Given the description of an element on the screen output the (x, y) to click on. 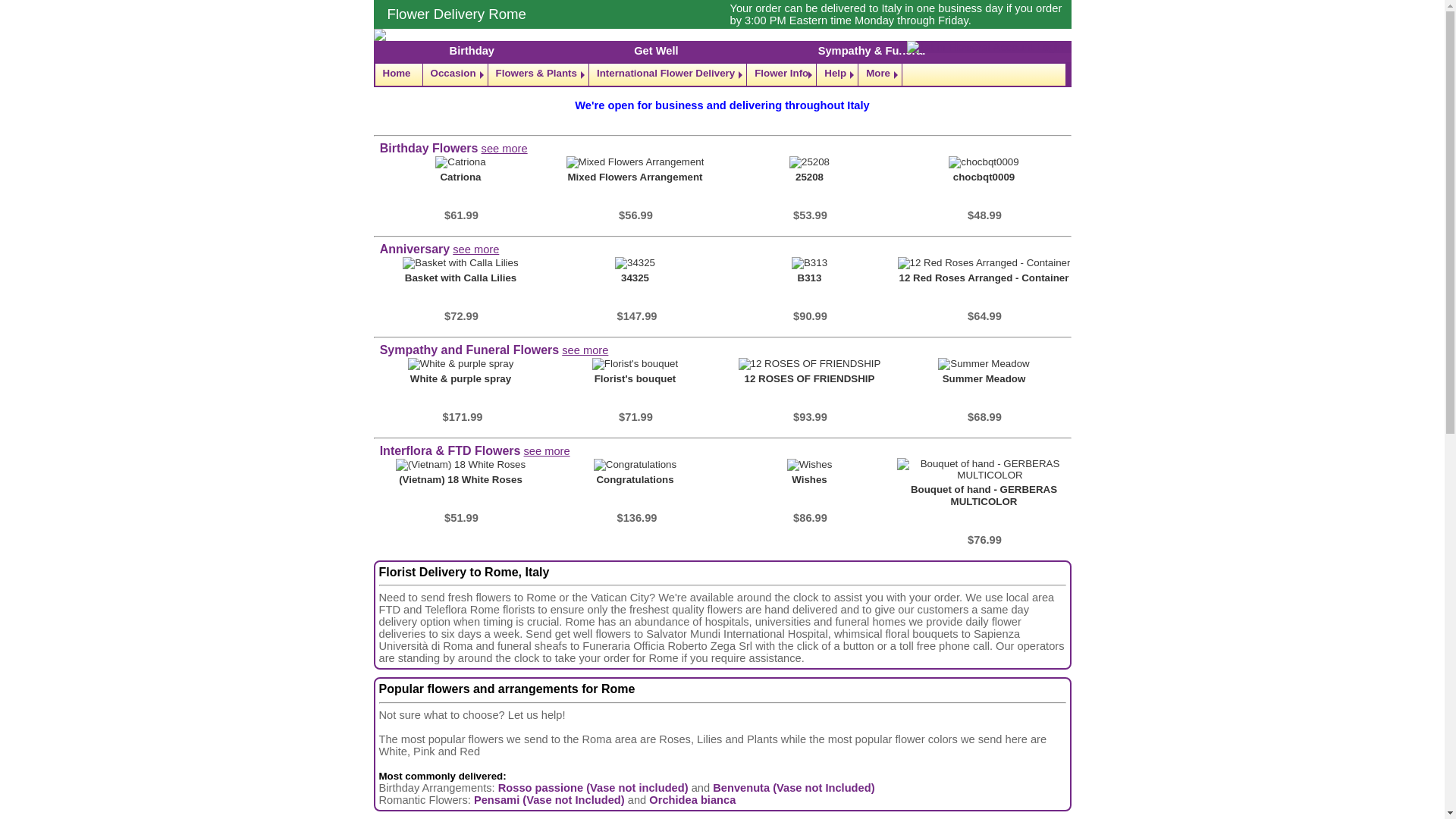
Occasion (455, 74)
International Flower Delivery (667, 74)
Home (398, 74)
Get Well (655, 50)
Birthday (472, 50)
